Given the description of an element on the screen output the (x, y) to click on. 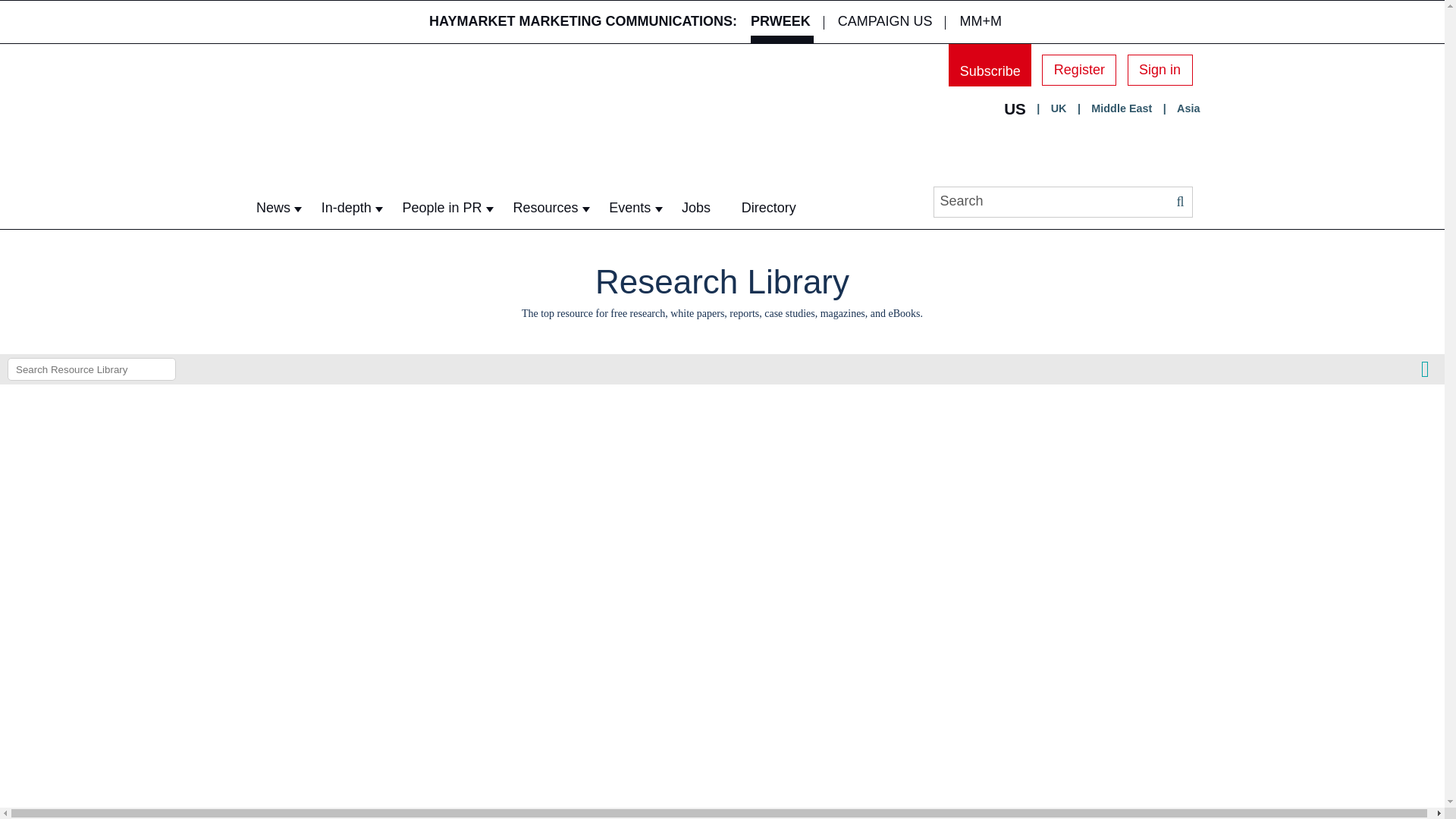
Sign in (1159, 69)
UK (1059, 108)
Sign in (1159, 69)
PR Week Global (406, 129)
Register (1079, 69)
News (272, 207)
Campaign US (885, 21)
Subscribe (989, 65)
Register (1079, 69)
Asia (1187, 108)
In-depth (346, 207)
Subscribe (989, 65)
PRWeek (780, 21)
Middle East (1120, 108)
PRWEEK (780, 21)
